Given the description of an element on the screen output the (x, y) to click on. 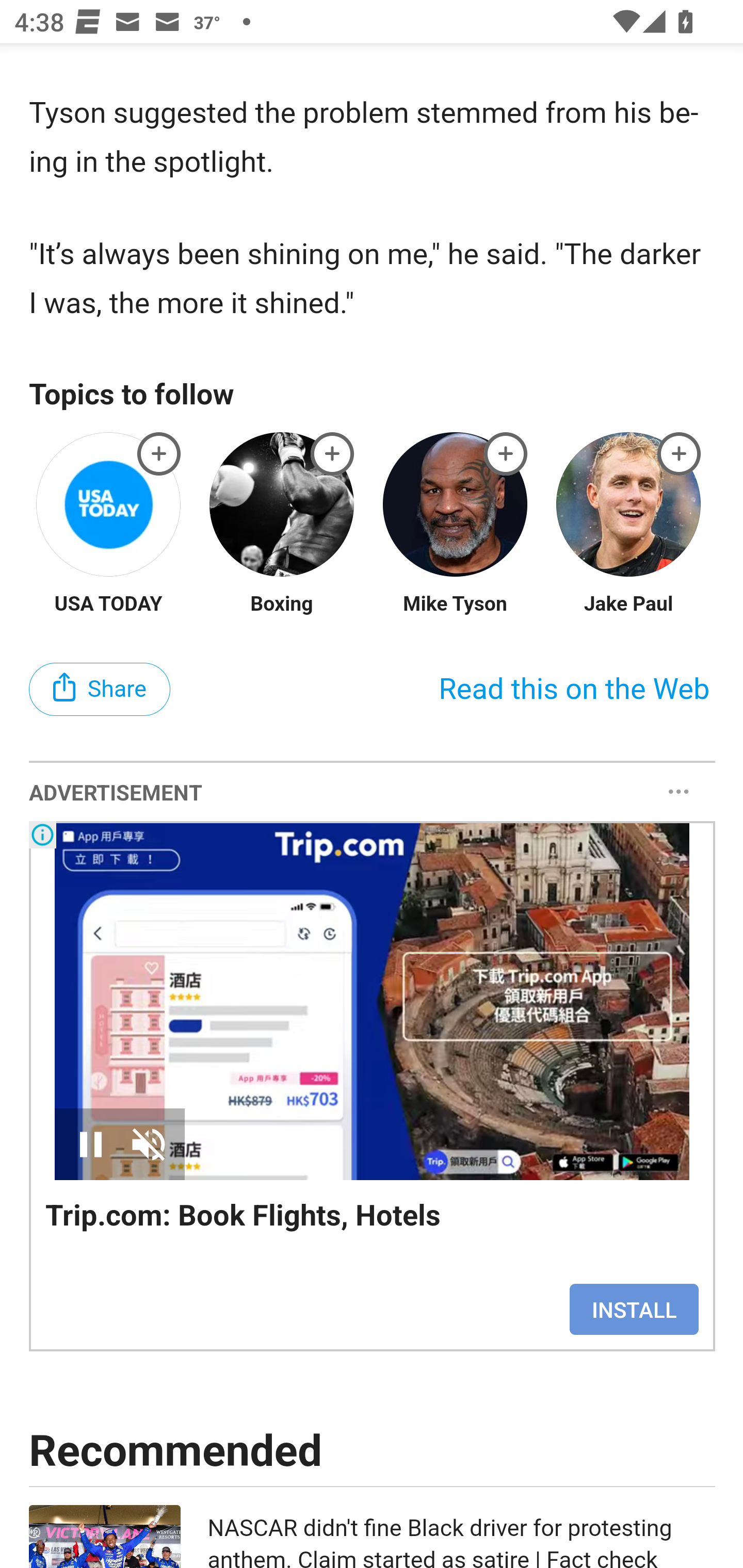
73495373007 (159, 455)
73495373007 (332, 455)
73495373007 (505, 455)
73495373007 (679, 455)
USA TODAY (109, 606)
Boxing (281, 606)
Mike Tyson (454, 606)
Jake Paul (628, 606)
Read this on the Web (573, 689)
Share (99, 689)
